Given the description of an element on the screen output the (x, y) to click on. 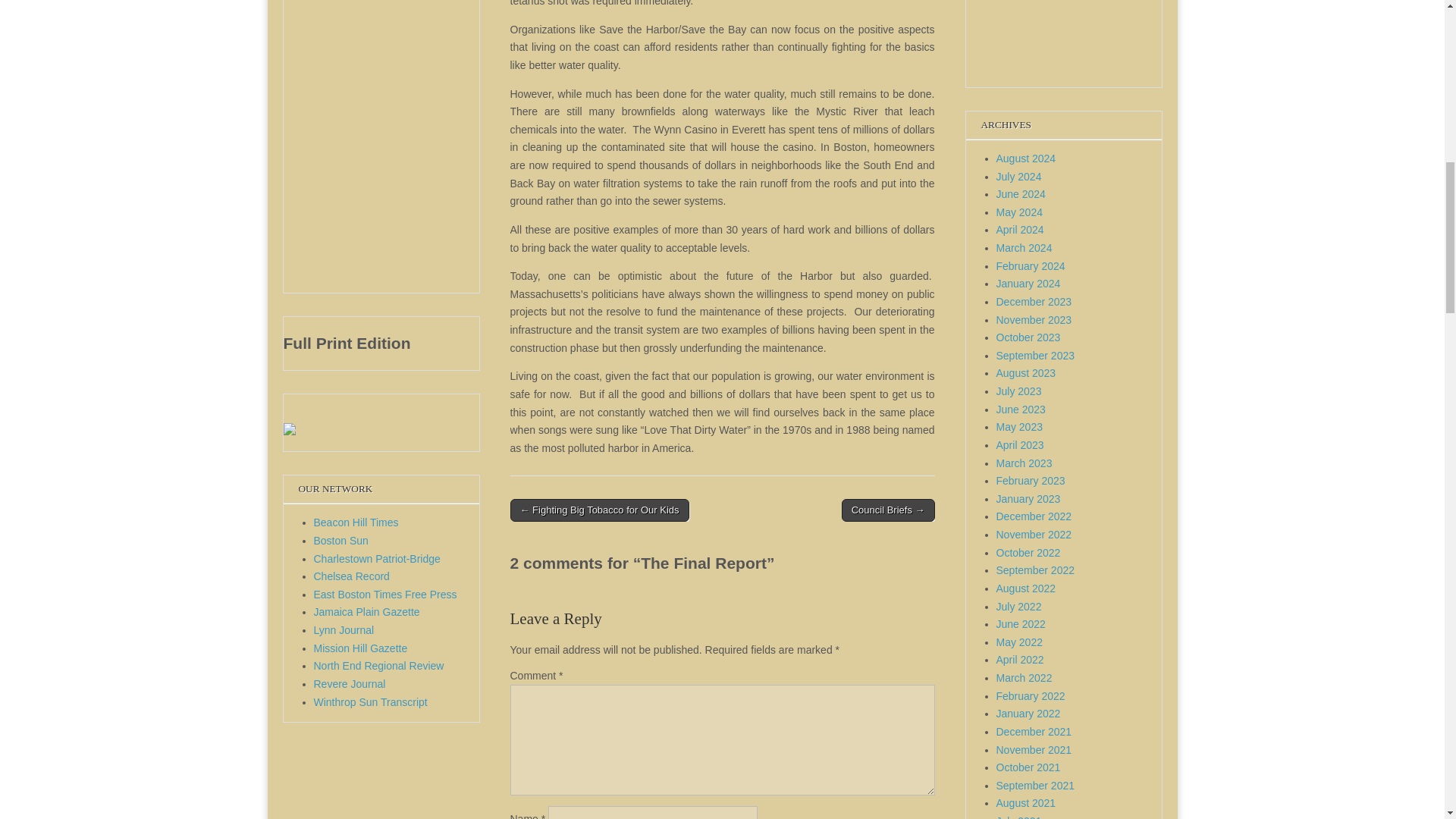
Lynn Journal (344, 630)
Charlestown Patriot-Bridge (377, 558)
Boston Sun (341, 540)
Jamaica Plain Gazette (367, 612)
Beacon Hill Times (356, 522)
East Boston Times Free Press (385, 594)
Chelsea Record (352, 576)
